Given the description of an element on the screen output the (x, y) to click on. 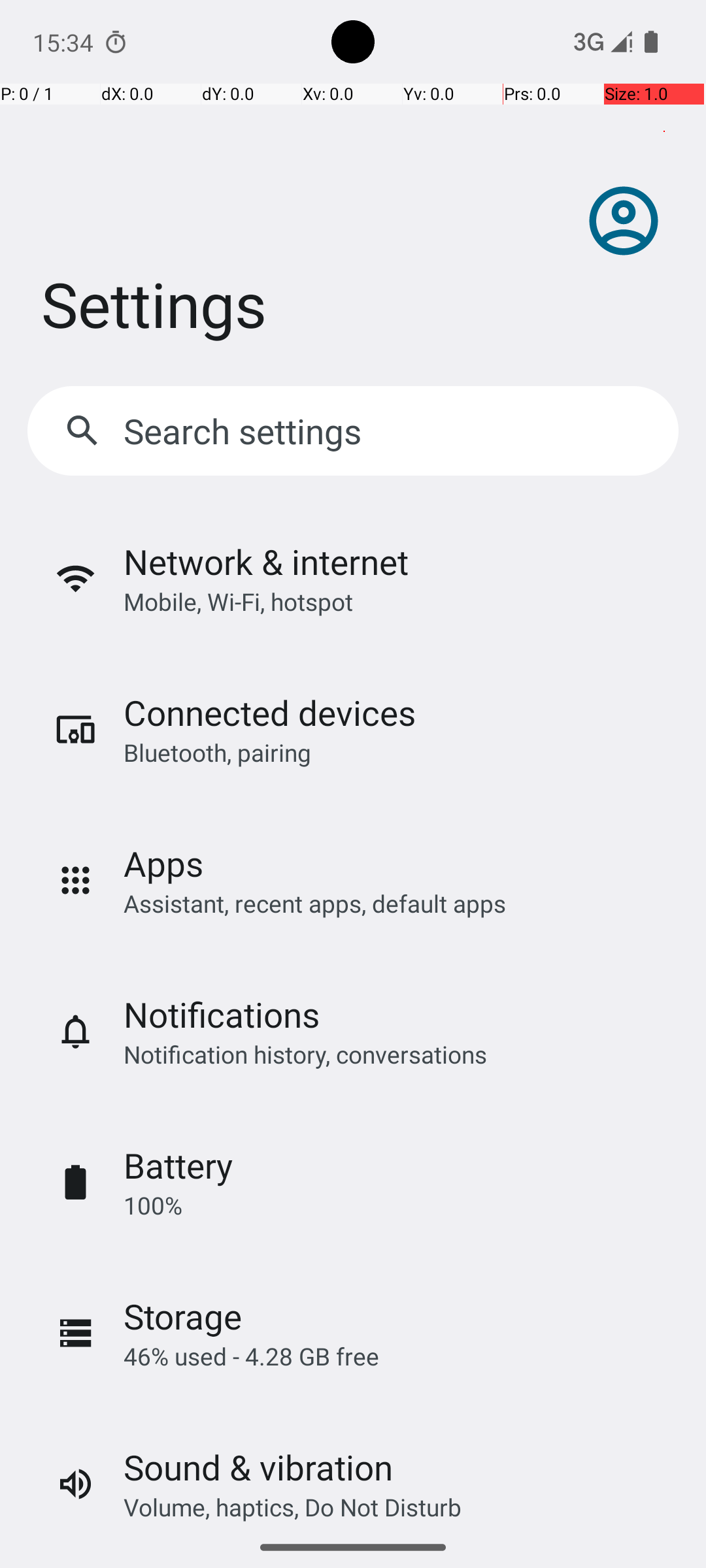
46% used - 4.28 GB free Element type: android.widget.TextView (251, 1355)
